Given the description of an element on the screen output the (x, y) to click on. 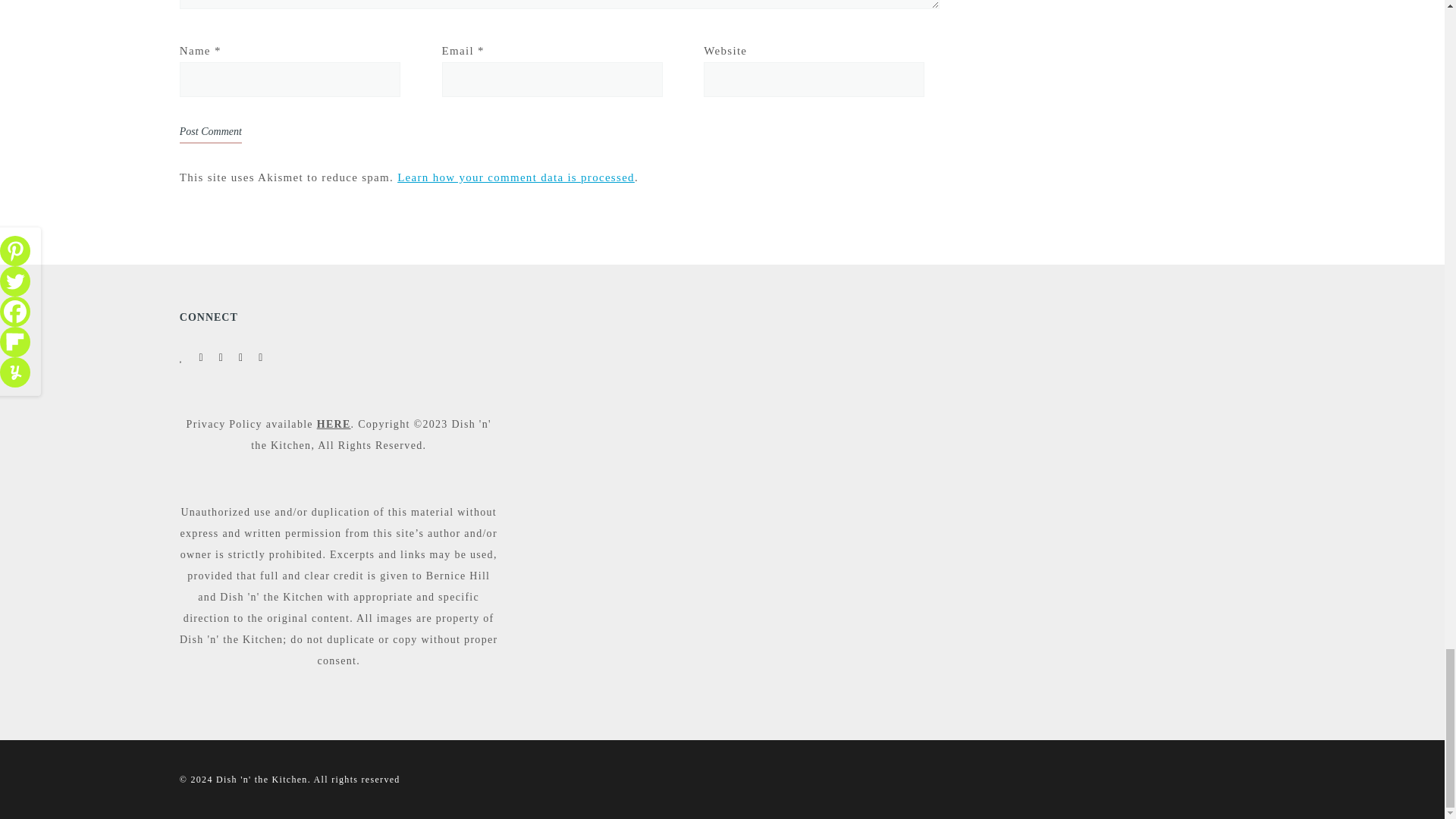
Post Comment (210, 132)
